Given the description of an element on the screen output the (x, y) to click on. 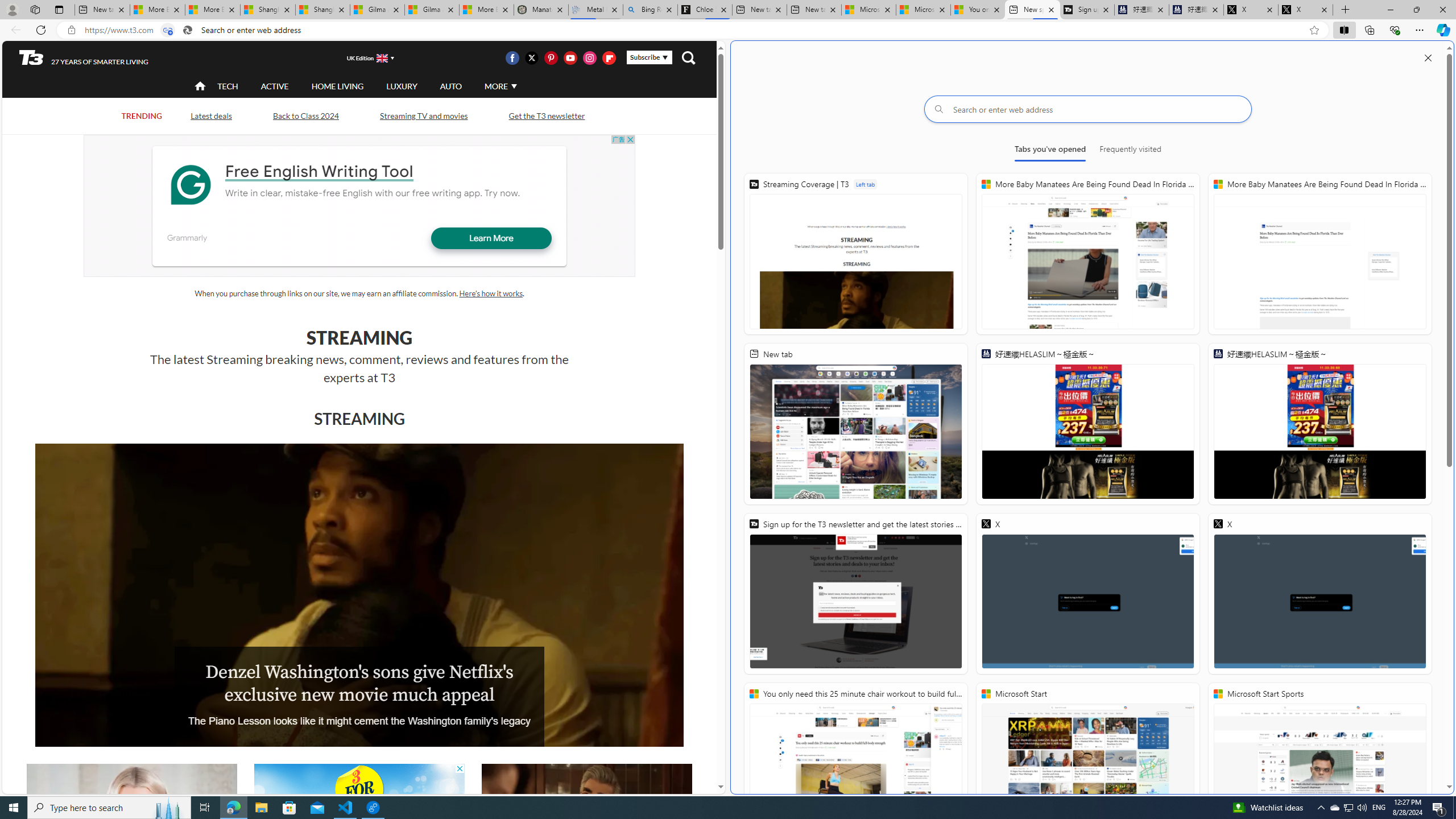
MORE  (499, 86)
AUTO (450, 86)
T3 27 YEARS OF SMARTER LIVING (83, 57)
Class: icon-svg (608, 57)
Gilma and Hector both pose tropical trouble for Hawaii (432, 9)
Close split screen (1428, 57)
Streaming Coverage | T3 (855, 253)
Search icon (187, 29)
